Given the description of an element on the screen output the (x, y) to click on. 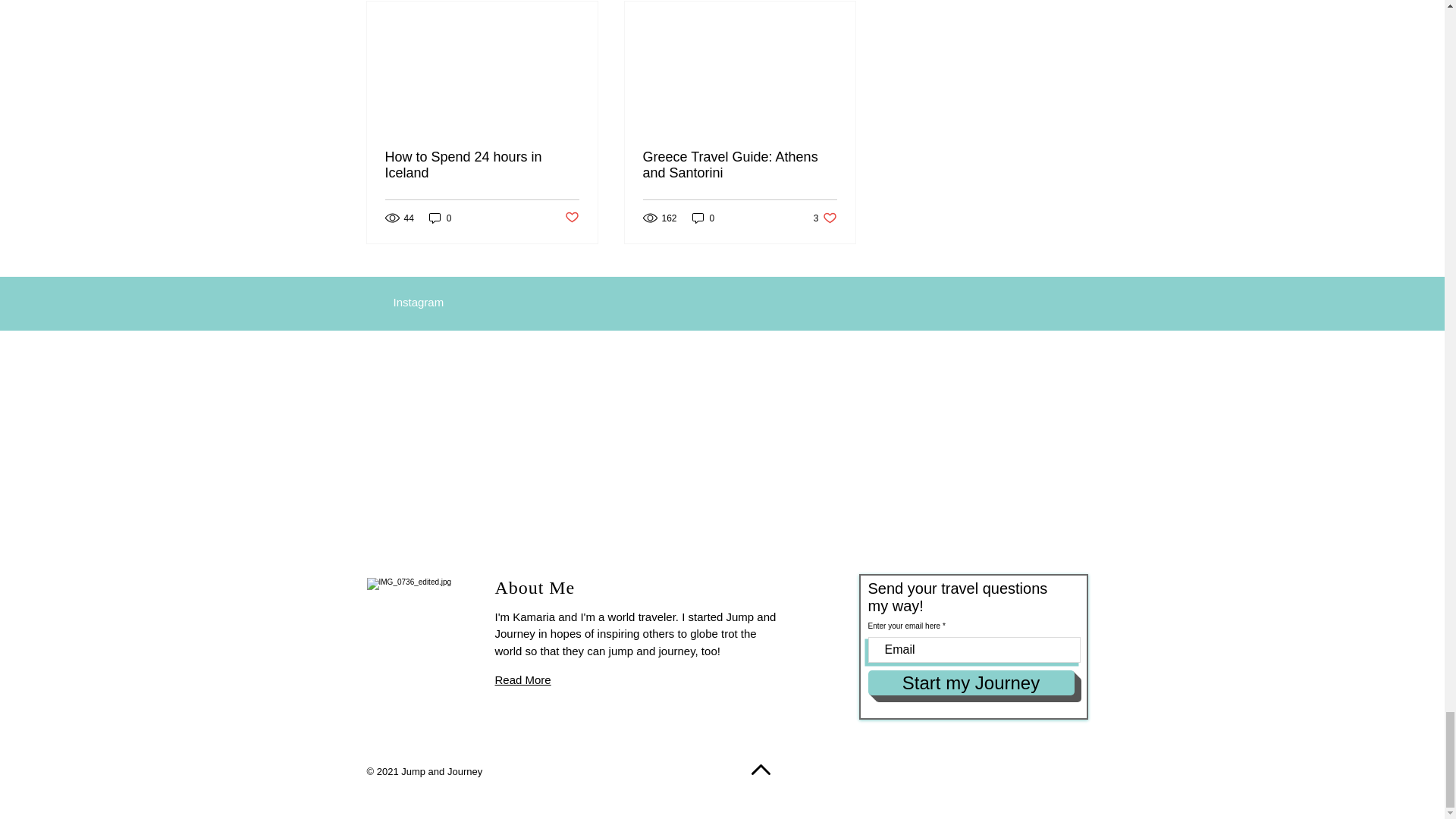
Greece Travel Guide: Athens and Santorini (740, 164)
Post not marked as liked (571, 217)
0 (825, 217)
How to Spend 24 hours in Iceland (703, 217)
0 (482, 164)
